Given the description of an element on the screen output the (x, y) to click on. 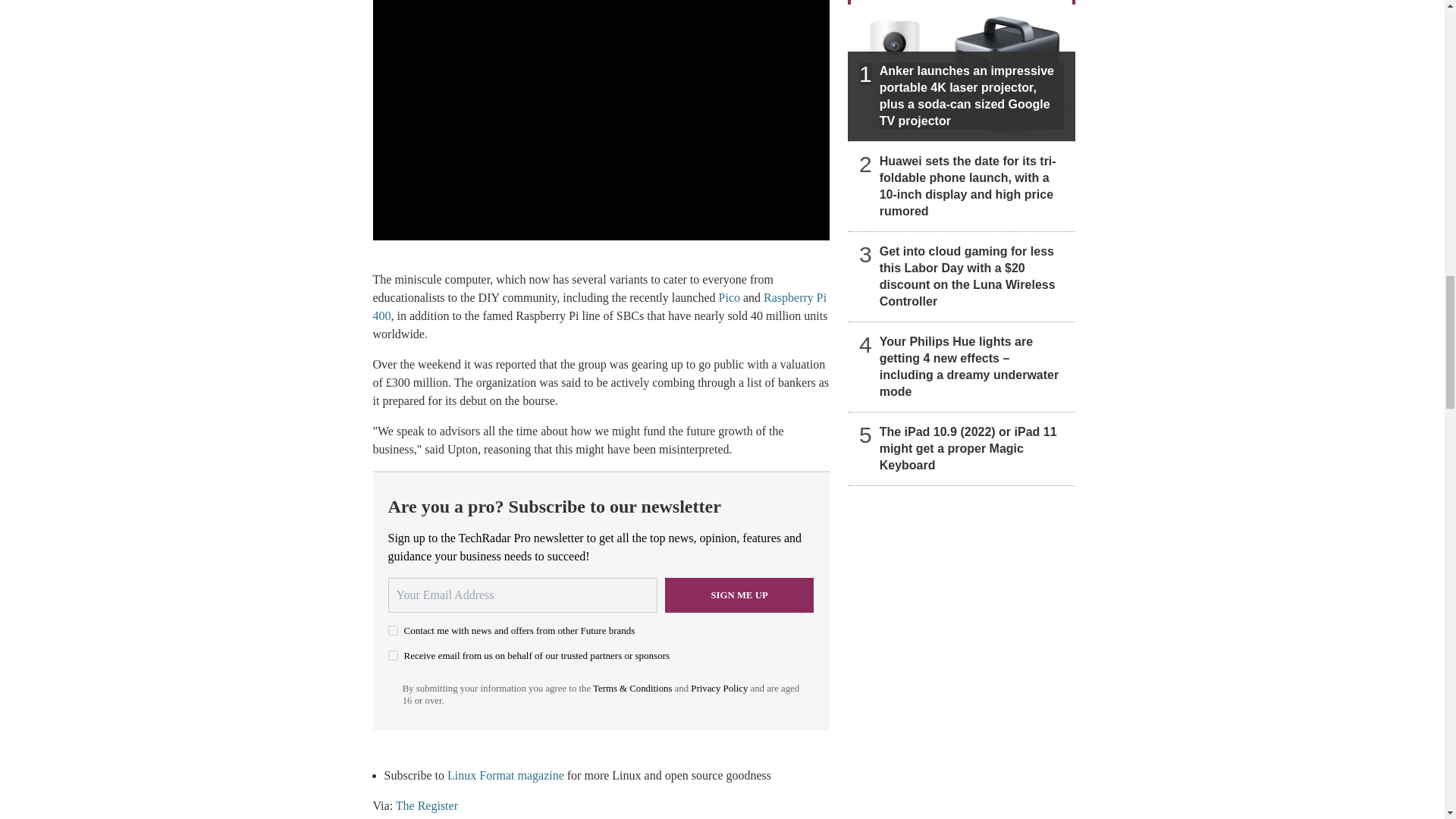
Sign me up (739, 595)
on (392, 630)
on (392, 655)
